Given the description of an element on the screen output the (x, y) to click on. 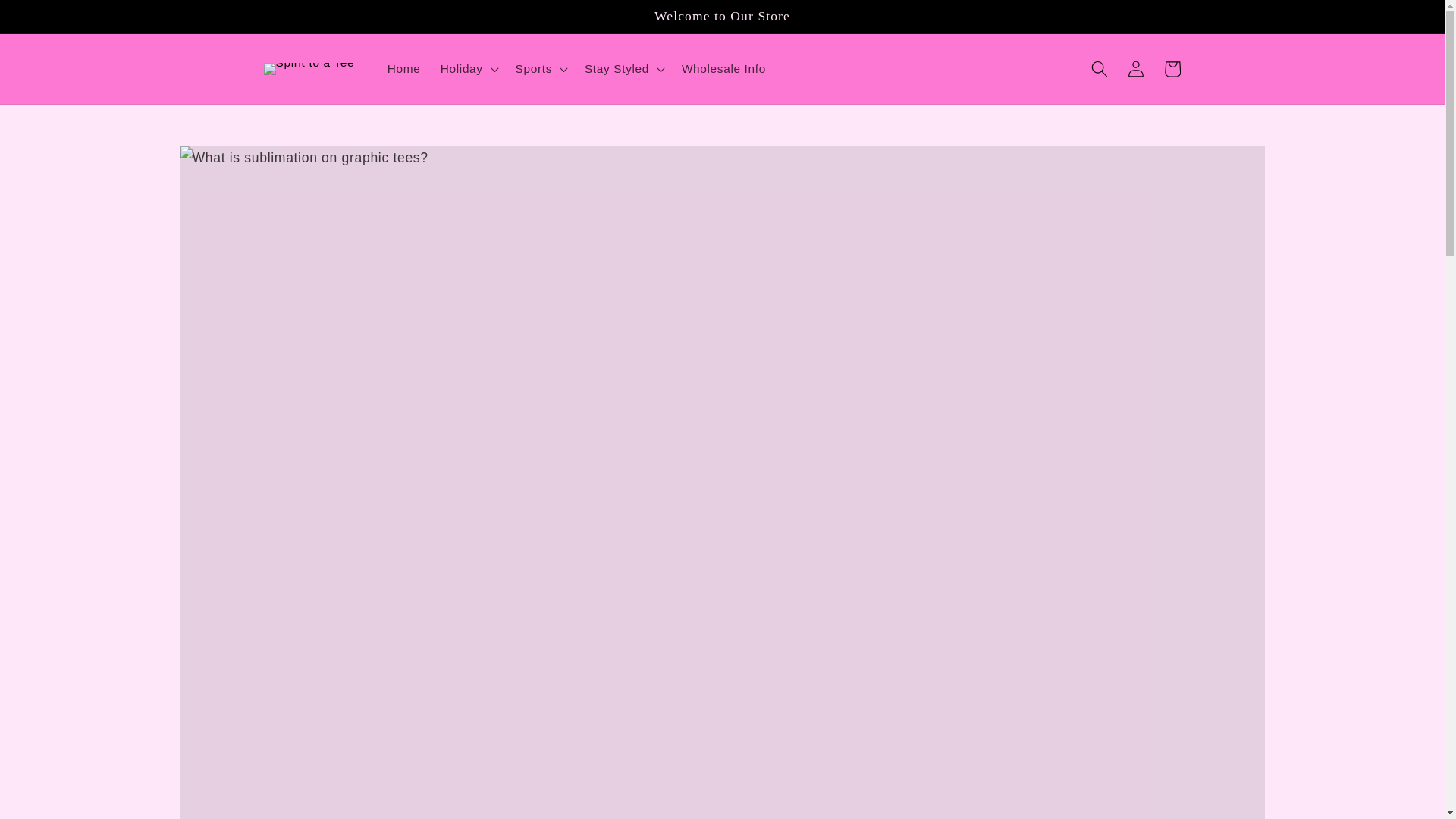
Skip to content (49, 18)
Home (403, 68)
